Given the description of an element on the screen output the (x, y) to click on. 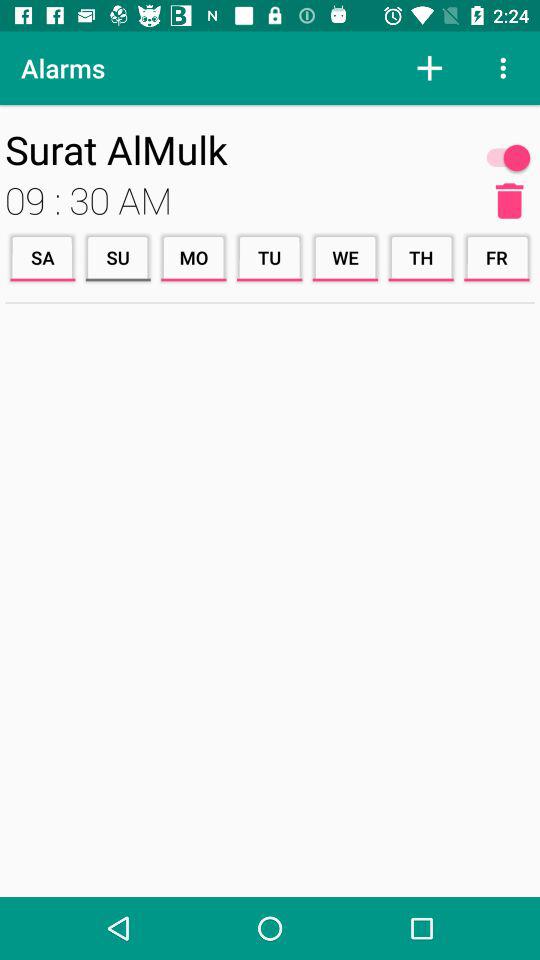
scroll until tu icon (269, 257)
